Given the description of an element on the screen output the (x, y) to click on. 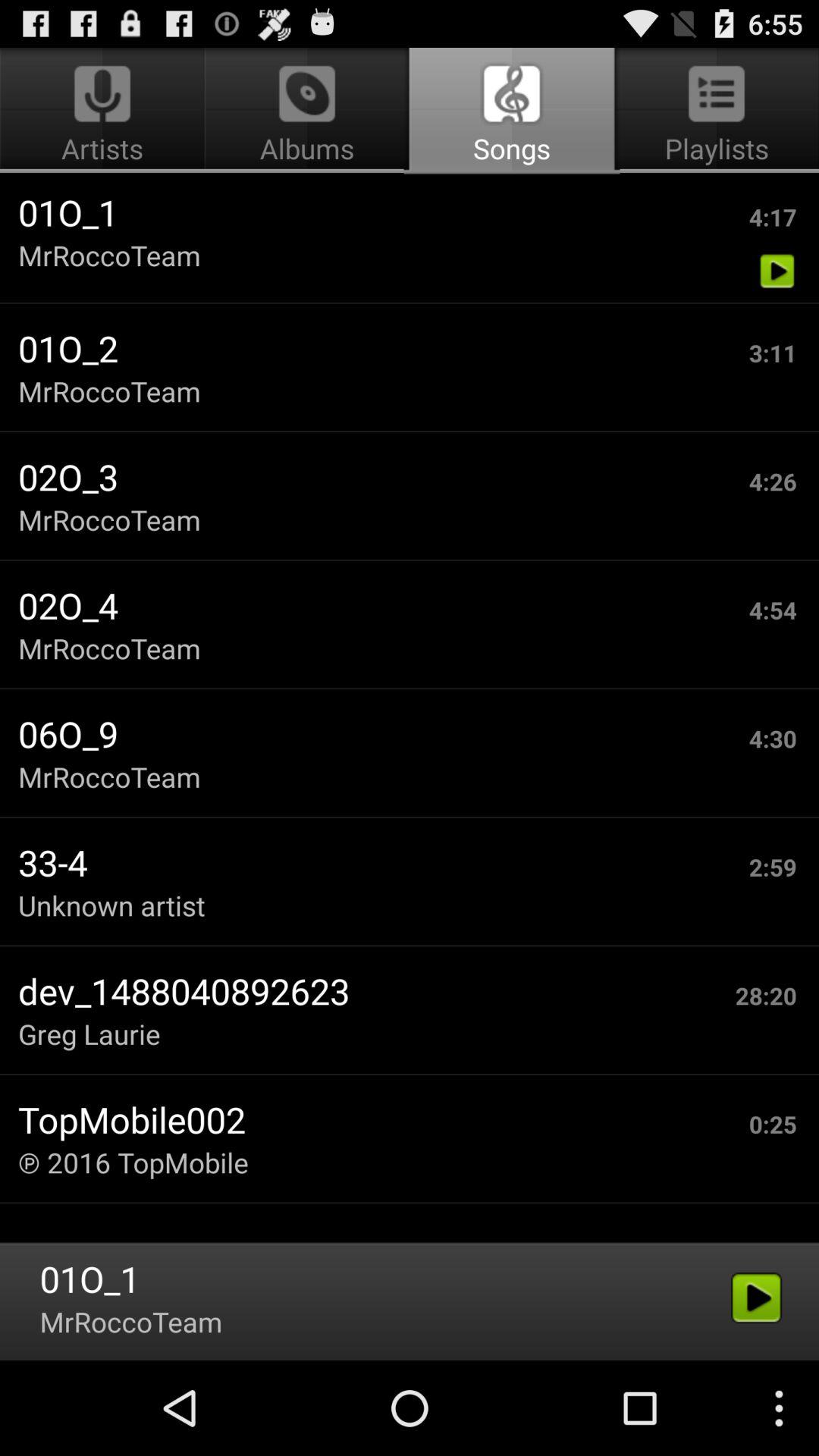
tap item next to the songs icon (105, 111)
